Given the description of an element on the screen output the (x, y) to click on. 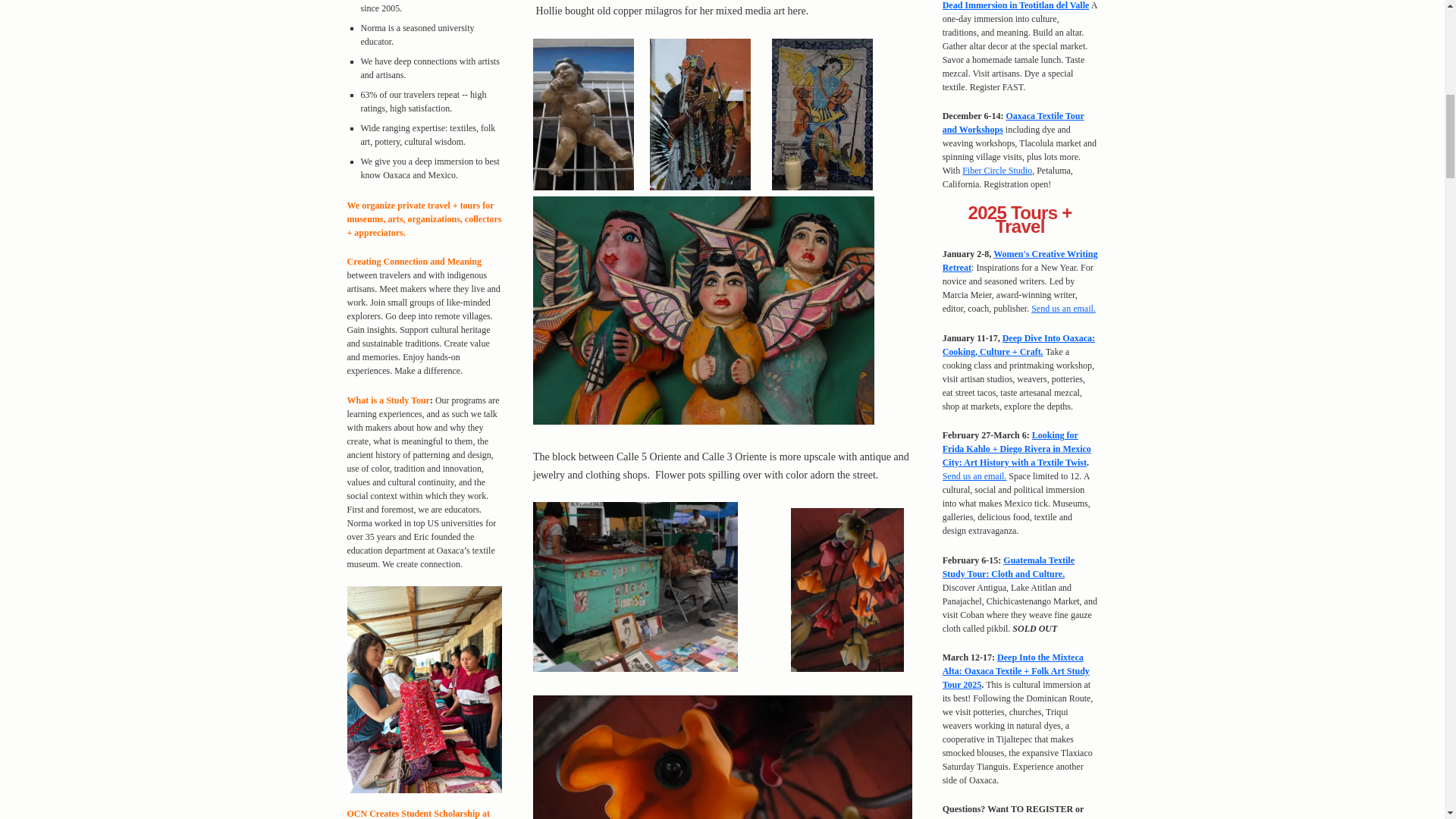
untitled-23 (635, 586)
untitled-30 (722, 757)
untitled-15 (703, 310)
